Given the description of an element on the screen output the (x, y) to click on. 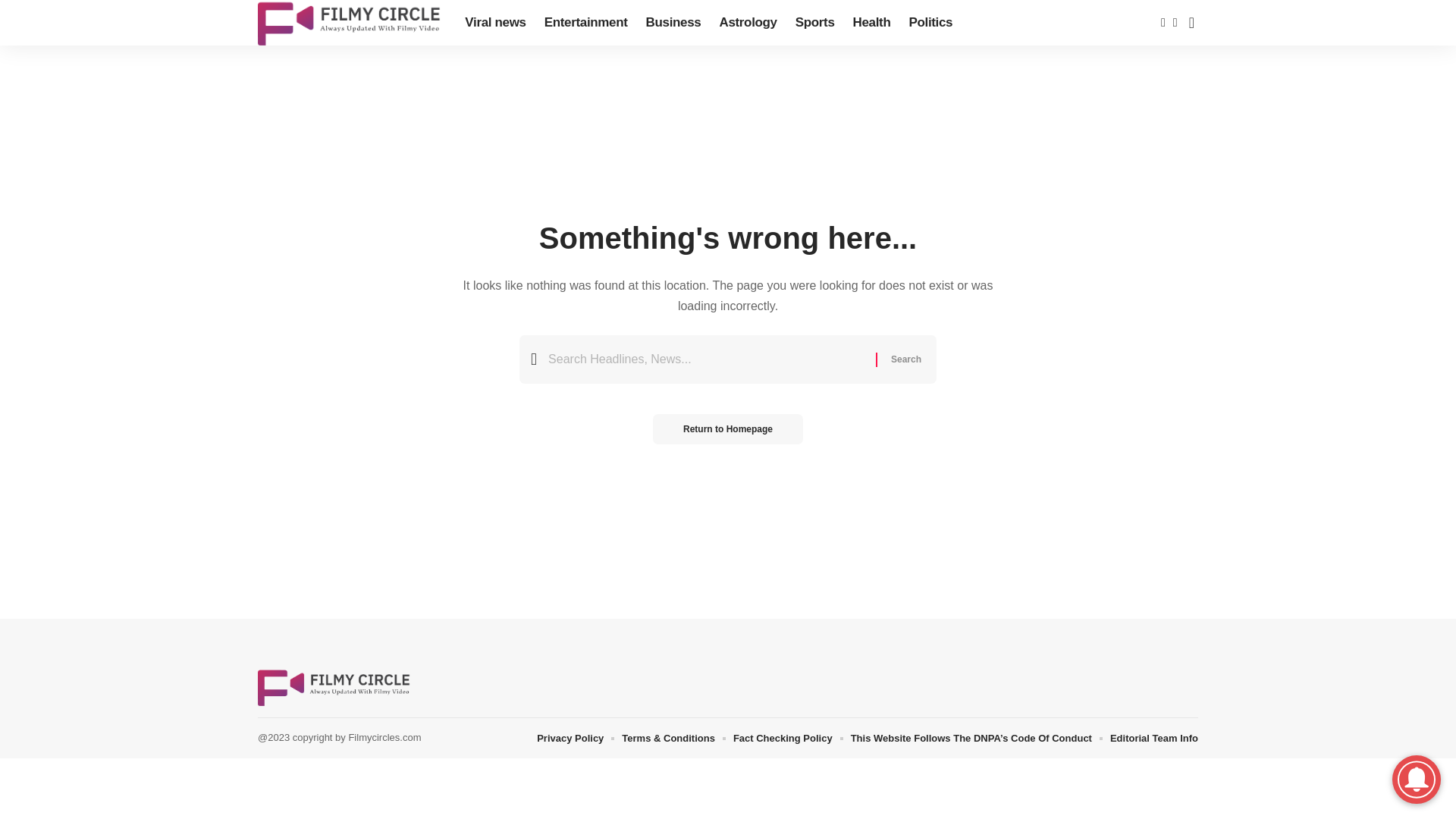
Health (871, 22)
Search (906, 359)
Business (673, 22)
Fact Checking Policy (782, 737)
Search (906, 359)
Return to Homepage (727, 429)
Privacy Policy (570, 737)
Entertainment (586, 22)
Viral news (494, 22)
Sports (815, 22)
